Given the description of an element on the screen output the (x, y) to click on. 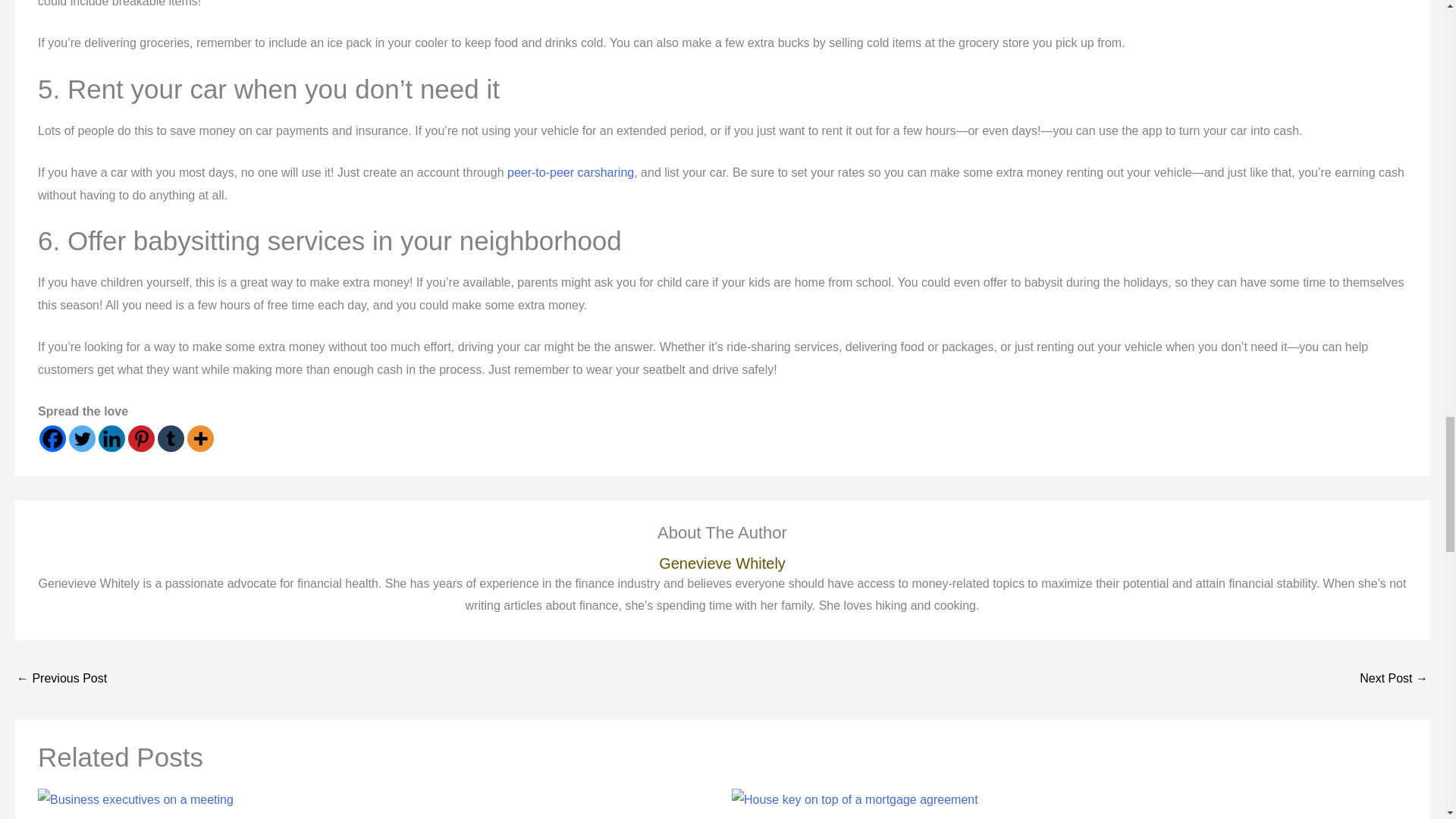
Linkedin (112, 438)
peer-to-peer carsharing (569, 172)
Twitter (82, 438)
Business Goals: Importance, Definition, and Examples (61, 679)
Pinterest (141, 438)
Tumblr (170, 438)
More (200, 438)
Facebook (52, 438)
Genevieve Whitely (721, 563)
